Given the description of an element on the screen output the (x, y) to click on. 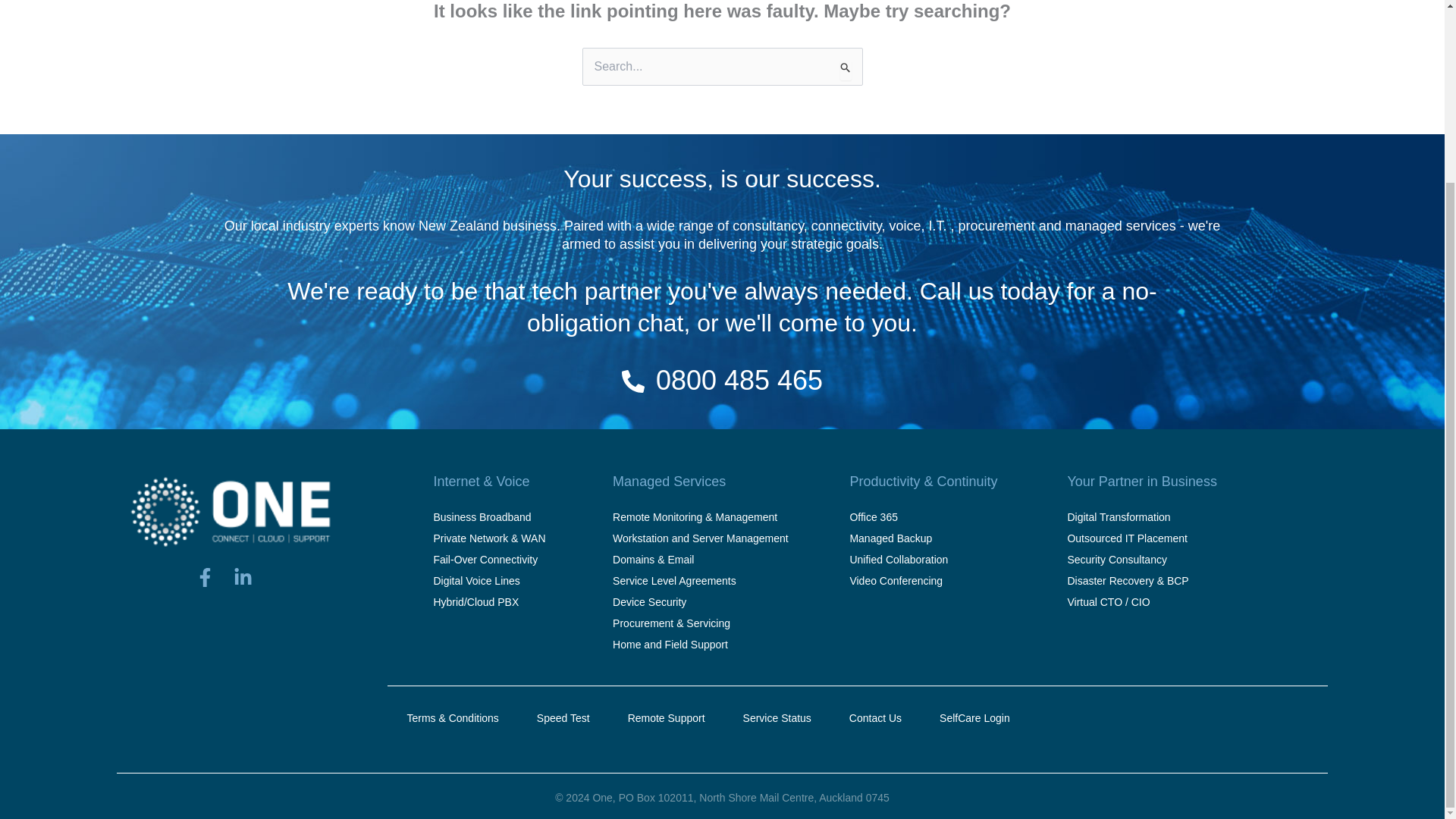
Business Broadband (488, 516)
Managed Services (668, 481)
Fail-Over Connectivity (488, 559)
Home and Field Support (700, 644)
Linkedin-in (251, 587)
Facebook-f (213, 587)
Digital Voice Lines (488, 580)
Workstation and Server Management (700, 537)
0800 485 465 (739, 379)
Service Level Agreements (700, 580)
